Given the description of an element on the screen output the (x, y) to click on. 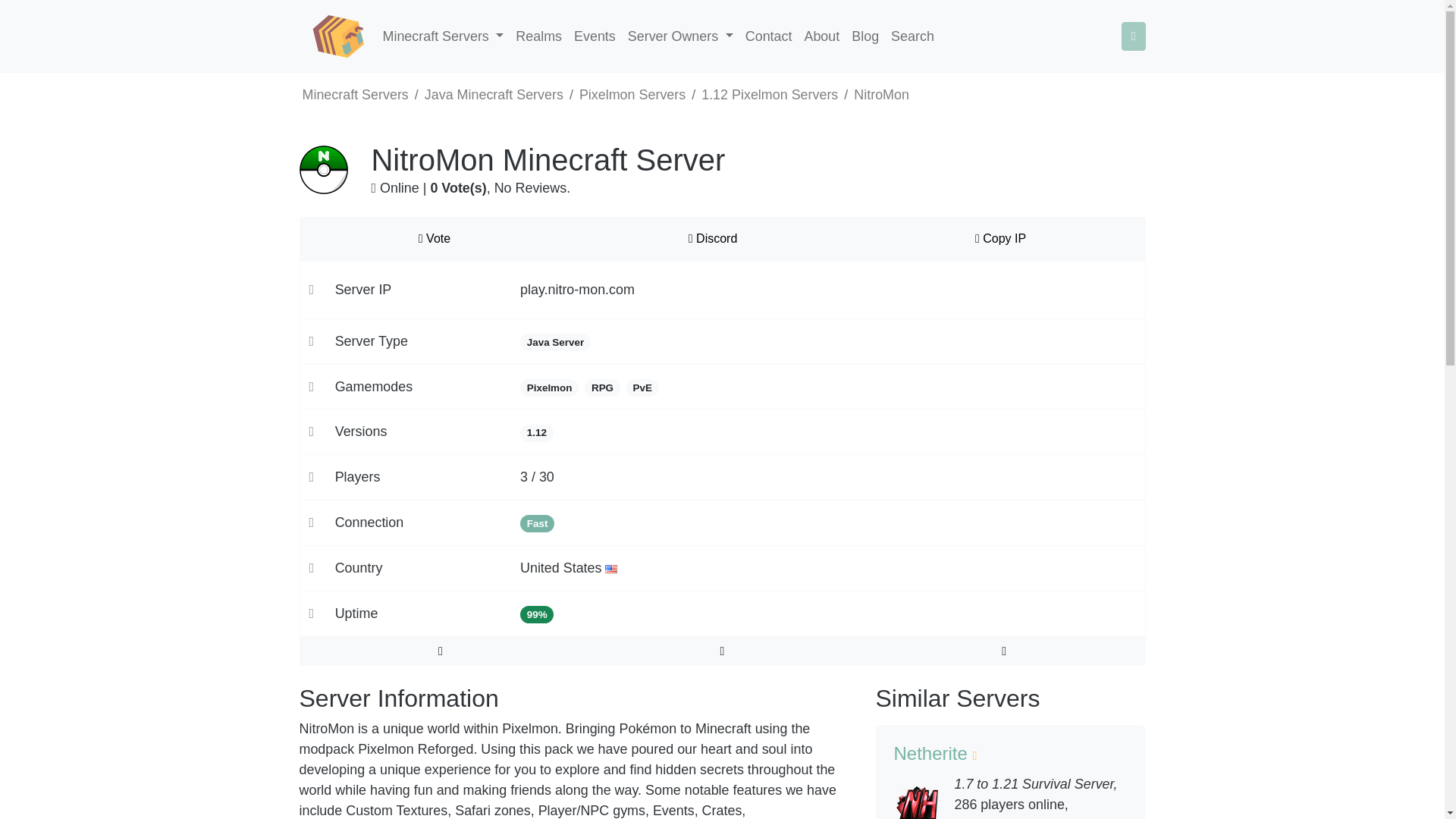
This server features PvE. (642, 387)
3 Players online right now. Up to 30 can join. (536, 476)
Minecraft Servers (442, 36)
Ping: 79ms (536, 523)
This server features RPG. (602, 387)
You can play using Minecraft Java Edition. (555, 342)
This server supports Minecraft version 1.12. (536, 433)
This server features Pixelmon. (548, 387)
